Given the description of an element on the screen output the (x, y) to click on. 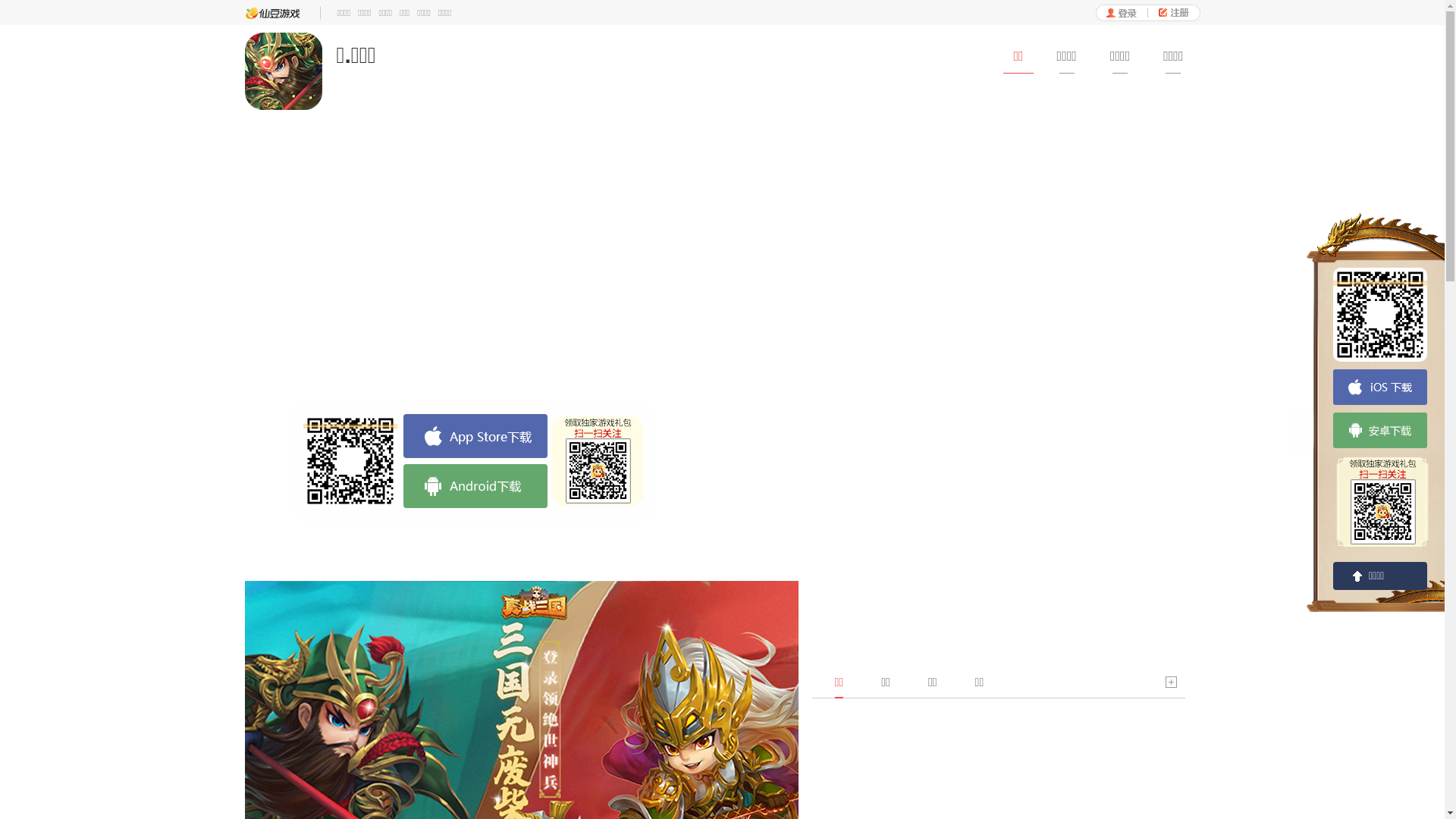
https://www.1122wan.com/game/download/zzsg?user_id=0 Element type: hover (350, 461)
https://www.1122wan.com/game/download/zzsg?user_id=0 Element type: hover (1380, 314)
